Given the description of an element on the screen output the (x, y) to click on. 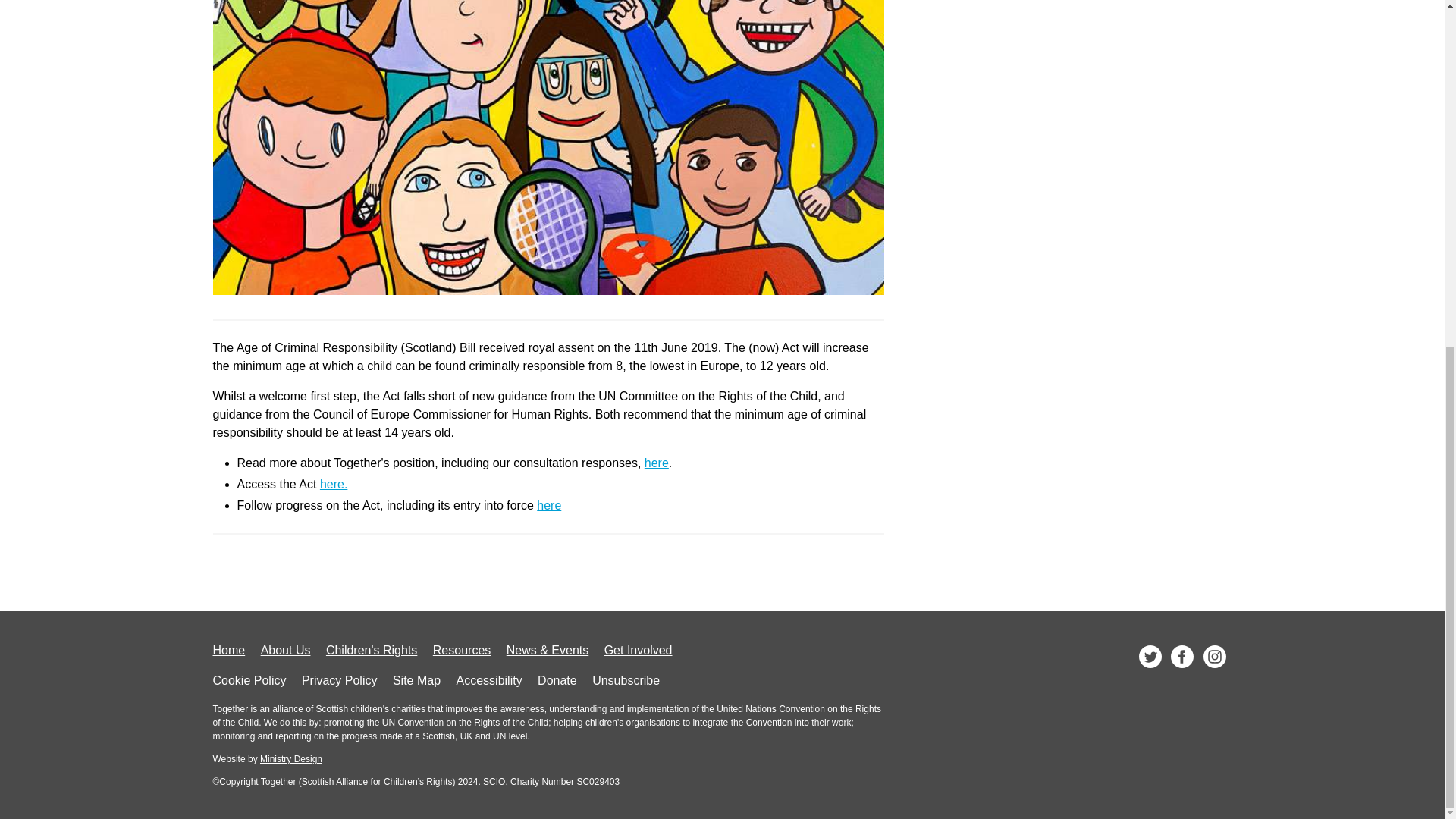
Home (228, 649)
here. (333, 483)
Resources (461, 649)
here (548, 504)
here (656, 462)
About Us (285, 649)
Children's Rights (371, 649)
Get Involved (638, 649)
